Given the description of an element on the screen output the (x, y) to click on. 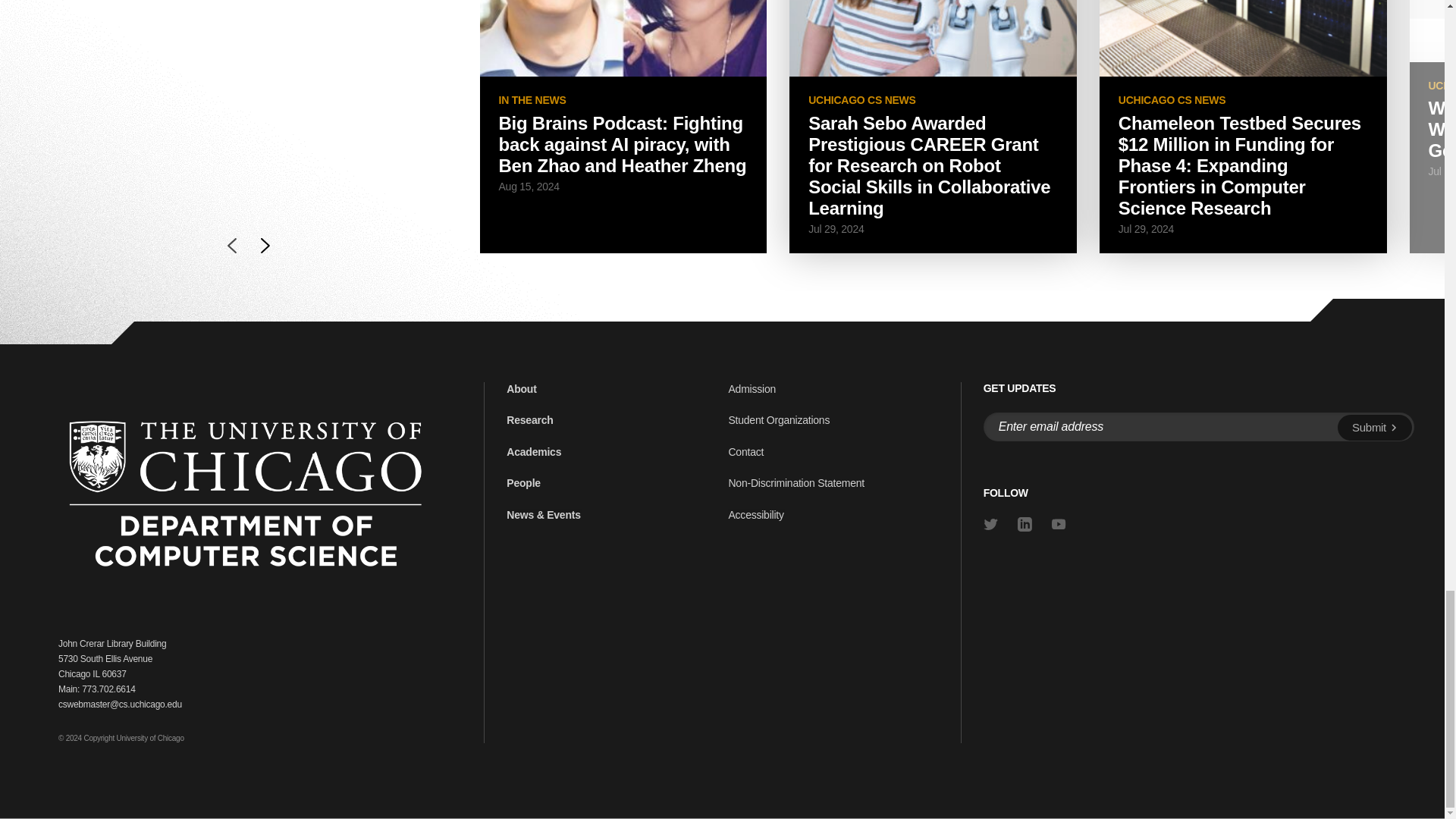
youtube (1058, 523)
linkedin (1024, 523)
twitter (990, 523)
